Given the description of an element on the screen output the (x, y) to click on. 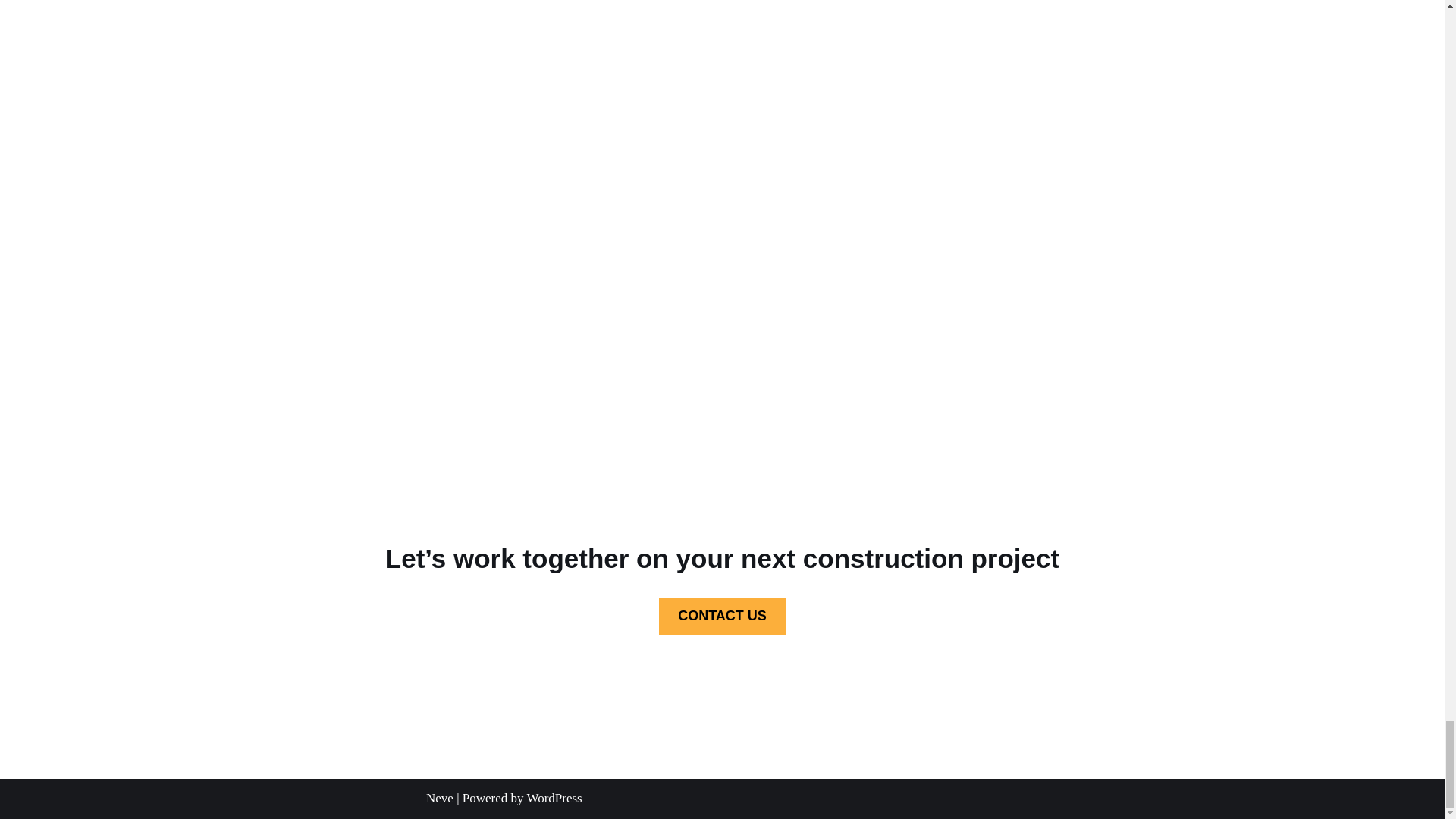
CONTACT US (722, 615)
Neve (439, 798)
WordPress (552, 798)
